Given the description of an element on the screen output the (x, y) to click on. 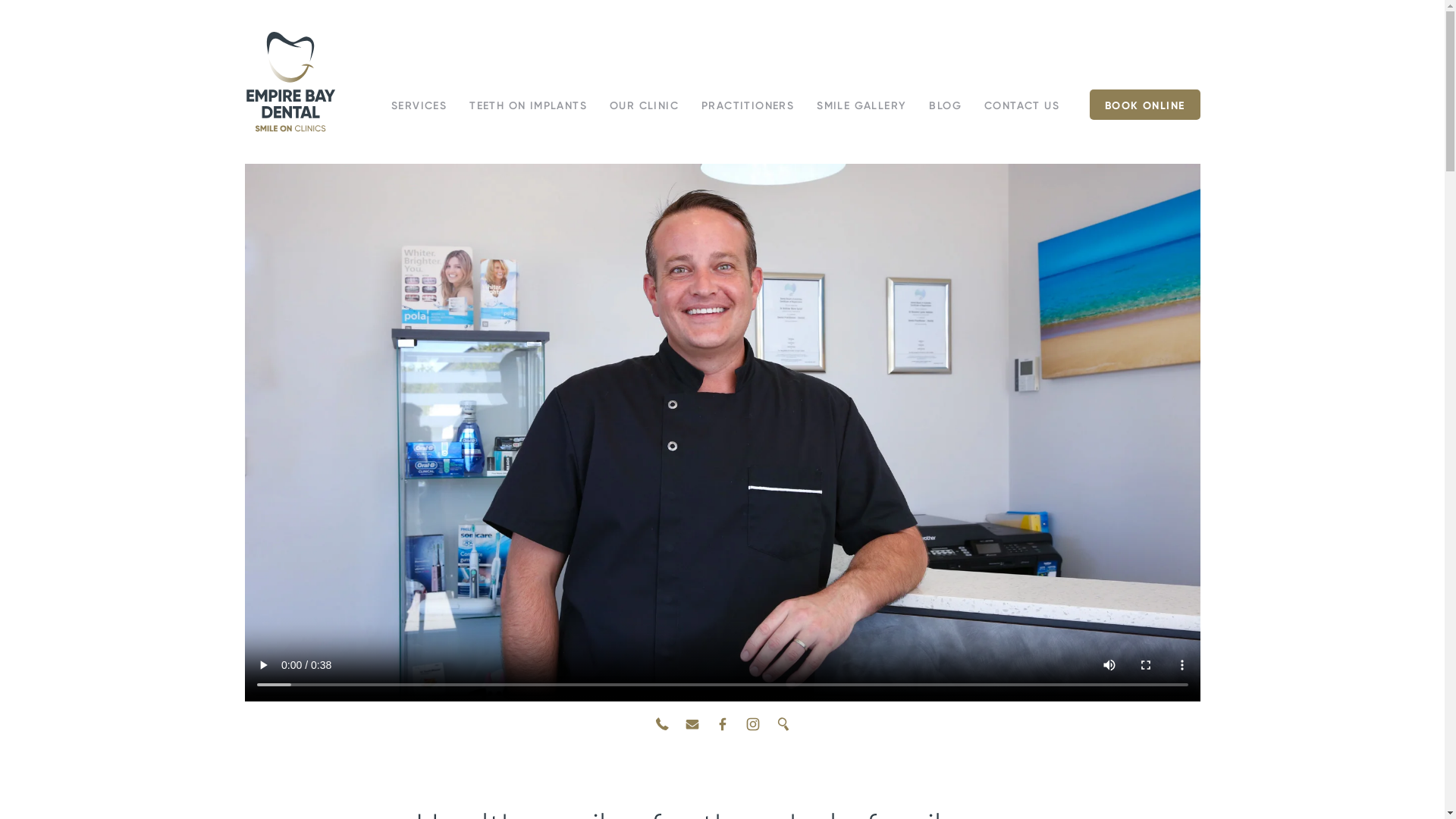
OUR CLINIC Element type: text (644, 105)
PRACTITIONERS Element type: text (747, 105)
SERVICES Element type: text (418, 105)
TEETH ON IMPLANTS Element type: text (527, 105)
SMILE GALLERY Element type: text (861, 105)
Skip to content Element type: text (244, 132)
CONTACT US Element type: text (1021, 105)
BLOG Element type: text (945, 105)
BOOK ONLINE Element type: text (1144, 104)
